Given the description of an element on the screen output the (x, y) to click on. 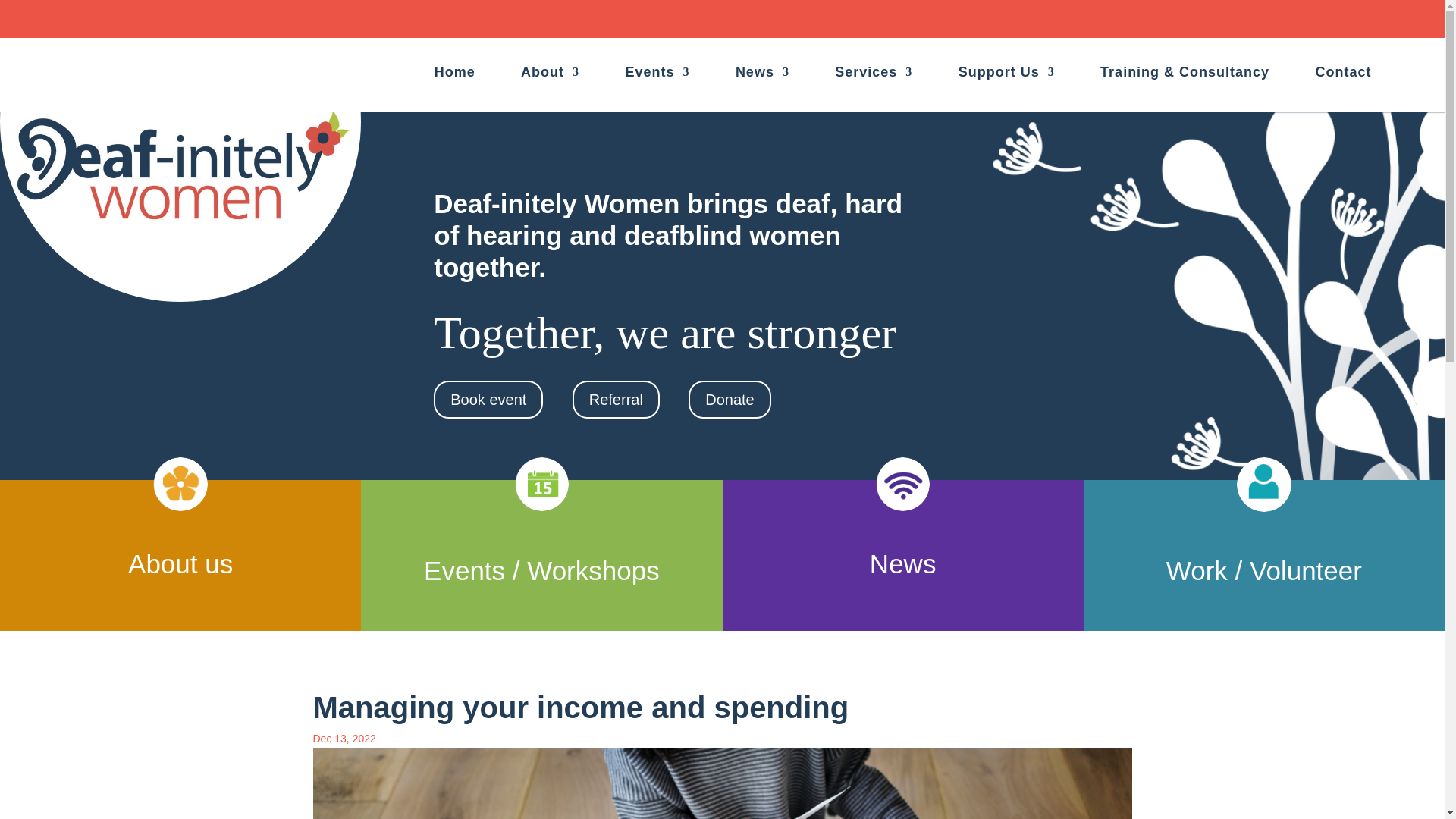
Services (873, 74)
Woman managing the debt (722, 783)
Referral (615, 399)
Support Us (1006, 74)
Book event (488, 399)
logo (180, 151)
Donate (729, 399)
